Given the description of an element on the screen output the (x, y) to click on. 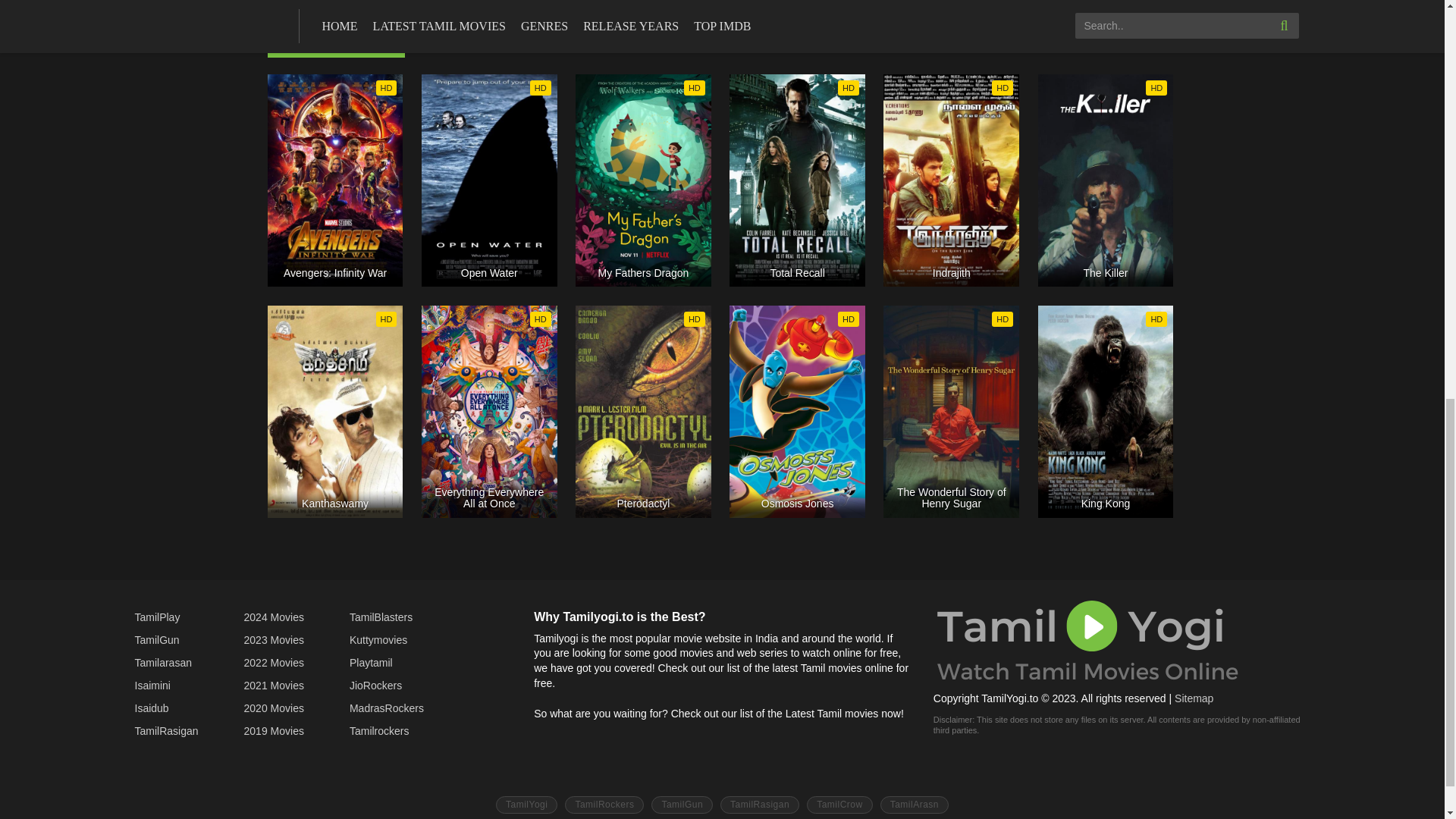
TamilRockers (603, 805)
TamilCrow (839, 805)
TamilGun (681, 805)
TamilYogi (526, 805)
TamilRasigan (759, 805)
